Given the description of an element on the screen output the (x, y) to click on. 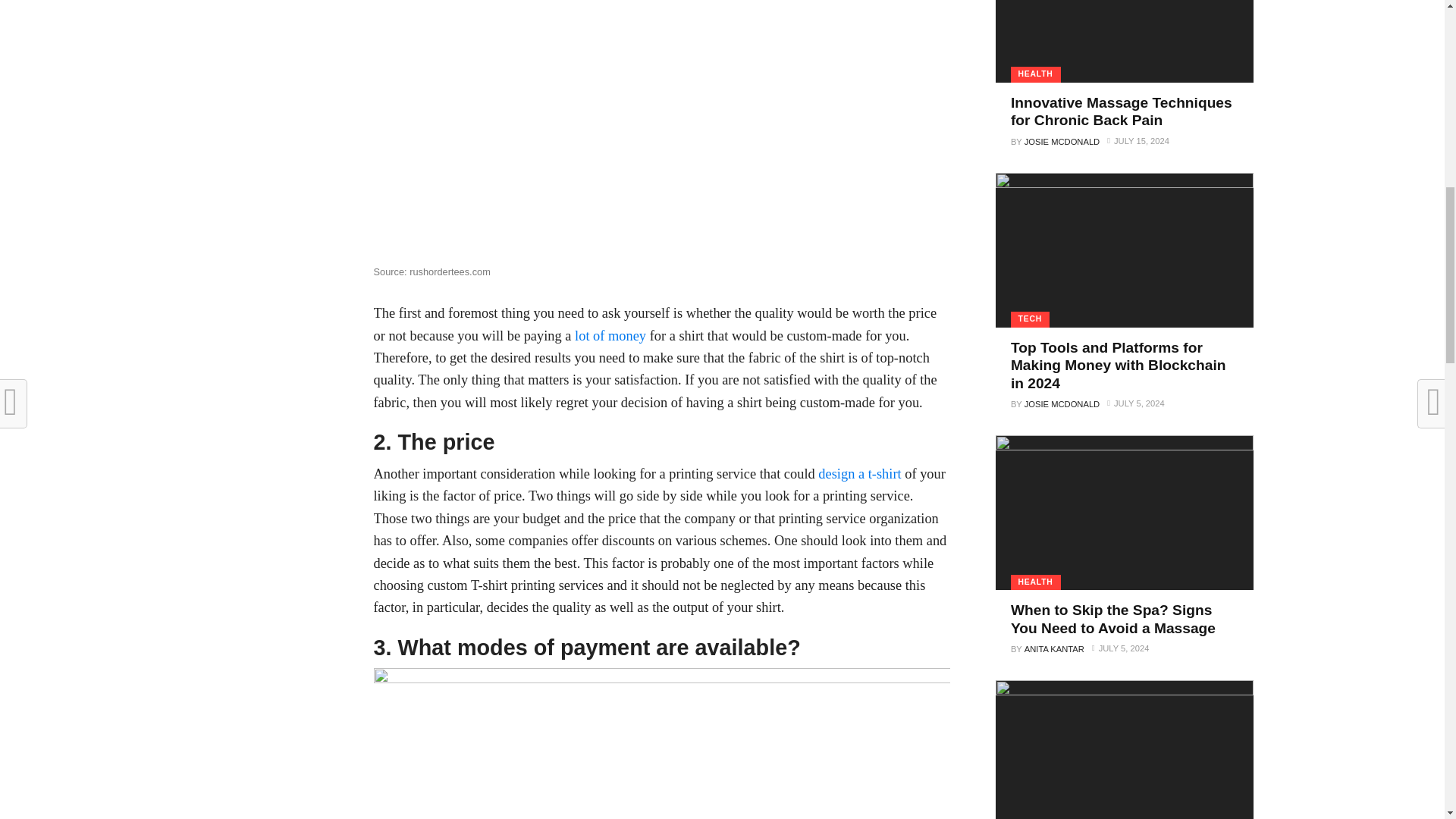
Posts by Josie McDonald (1062, 141)
design a t-shirt (859, 473)
lot of money (610, 335)
